Given the description of an element on the screen output the (x, y) to click on. 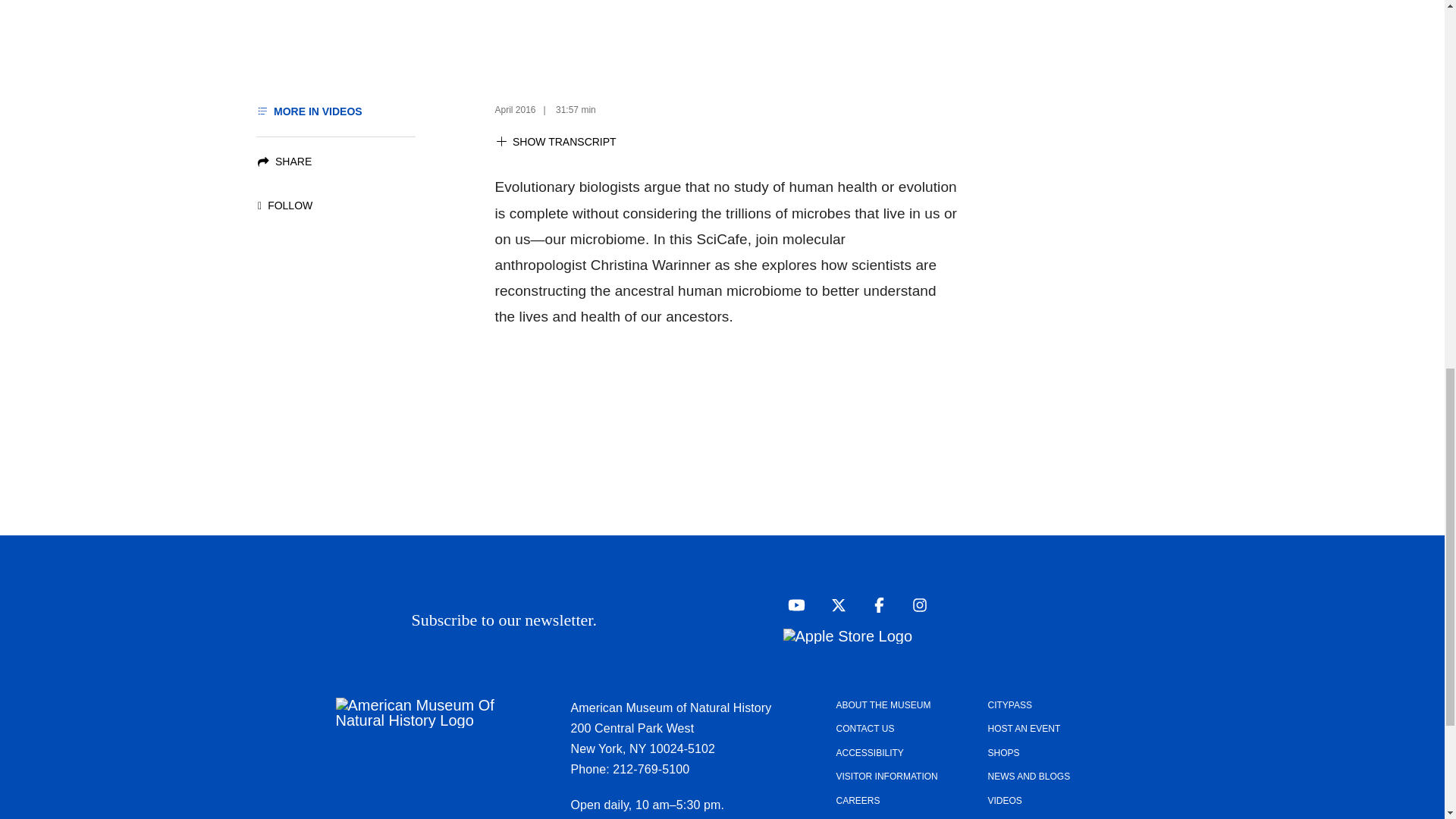
Facebook Profile (874, 605)
Download App on the Apple Store (847, 635)
Subscribe to our newsletter. (691, 620)
Twitter Profile (834, 605)
YouTube Channel (792, 605)
Instagram Profile (914, 605)
